Given the description of an element on the screen output the (x, y) to click on. 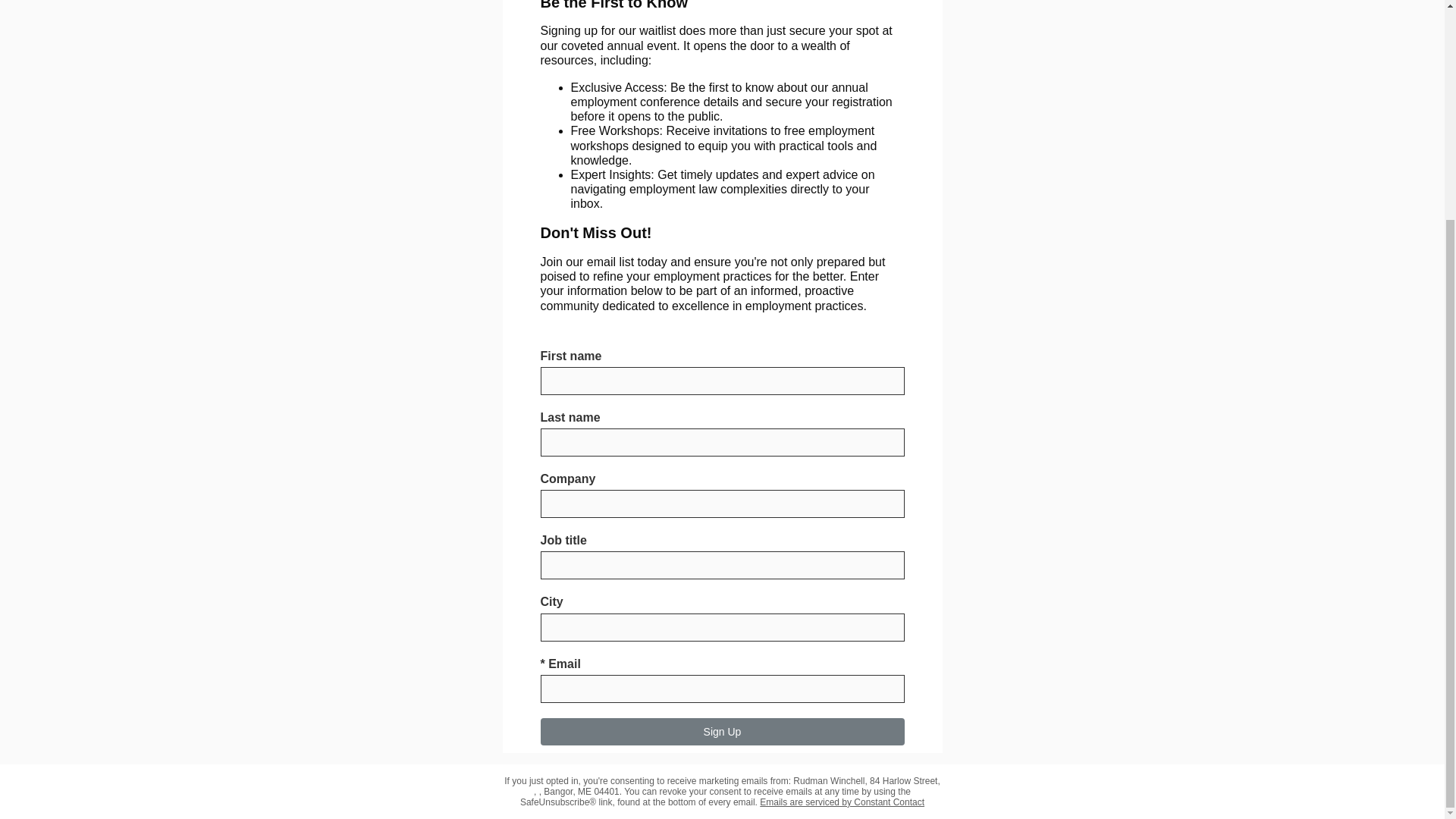
Emails are serviced by Constant Contact (842, 801)
Sign Up (722, 731)
